Given the description of an element on the screen output the (x, y) to click on. 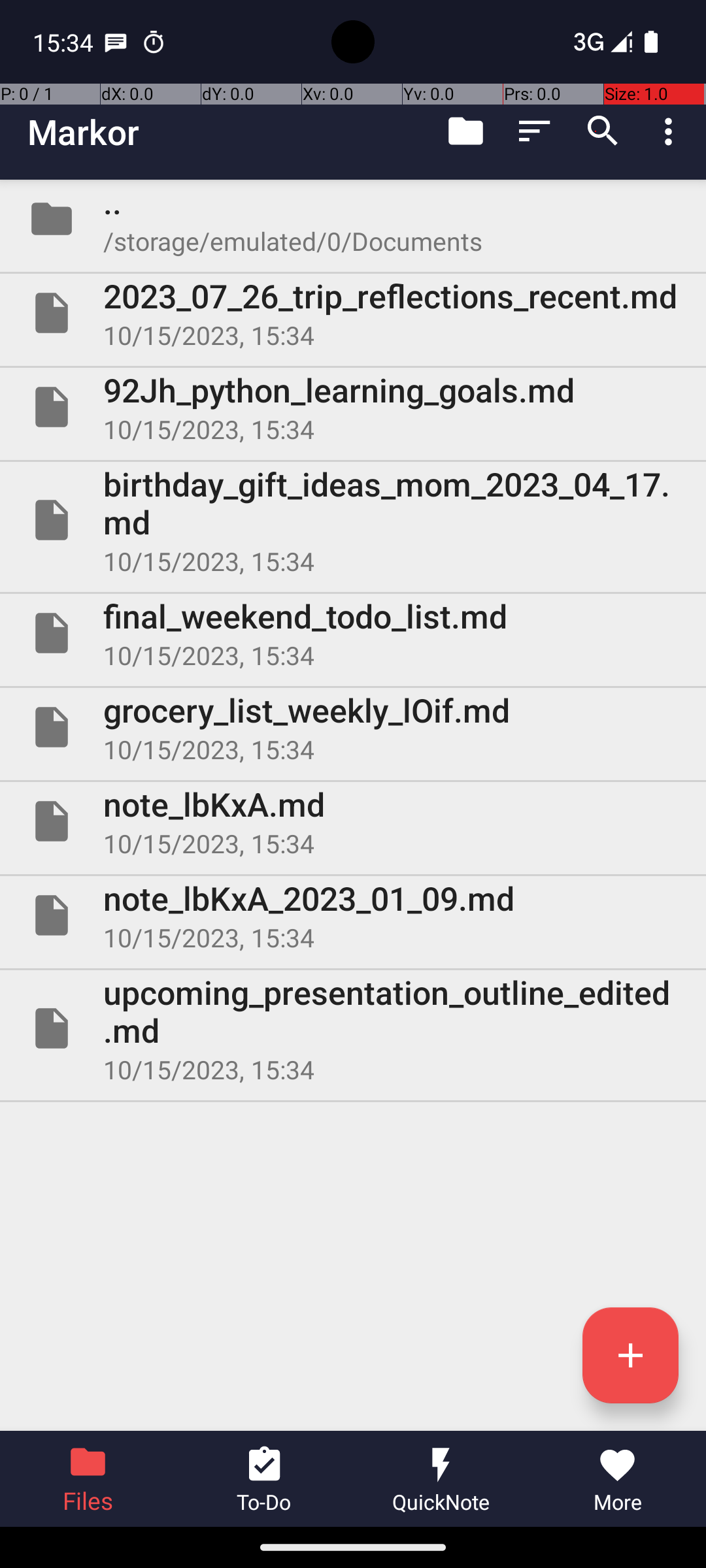
File 2023_07_26_trip_reflections_recent.md  Element type: android.widget.LinearLayout (353, 312)
File 92Jh_python_learning_goals.md  Element type: android.widget.LinearLayout (353, 406)
File birthday_gift_ideas_mom_2023_04_17.md  Element type: android.widget.LinearLayout (353, 519)
File final_weekend_todo_list.md  Element type: android.widget.LinearLayout (353, 632)
File grocery_list_weekly_lOif.md  Element type: android.widget.LinearLayout (353, 726)
File note_lbKxA.md  Element type: android.widget.LinearLayout (353, 821)
File note_lbKxA_2023_01_09.md  Element type: android.widget.LinearLayout (353, 915)
File upcoming_presentation_outline_edited.md  Element type: android.widget.LinearLayout (353, 1028)
